Given the description of an element on the screen output the (x, y) to click on. 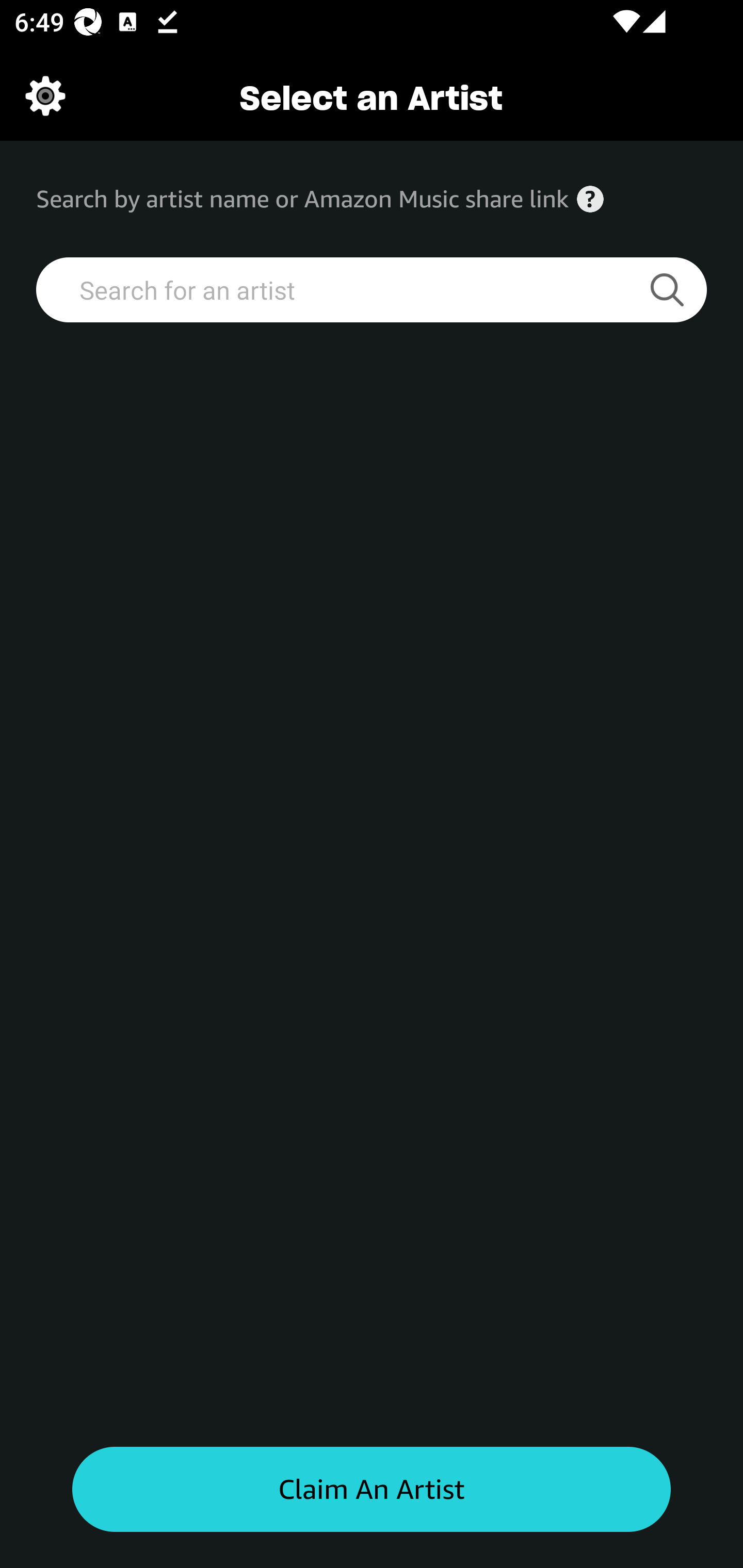
Help  icon (589, 199)
Claim an artist button Claim An Artist (371, 1489)
